Given the description of an element on the screen output the (x, y) to click on. 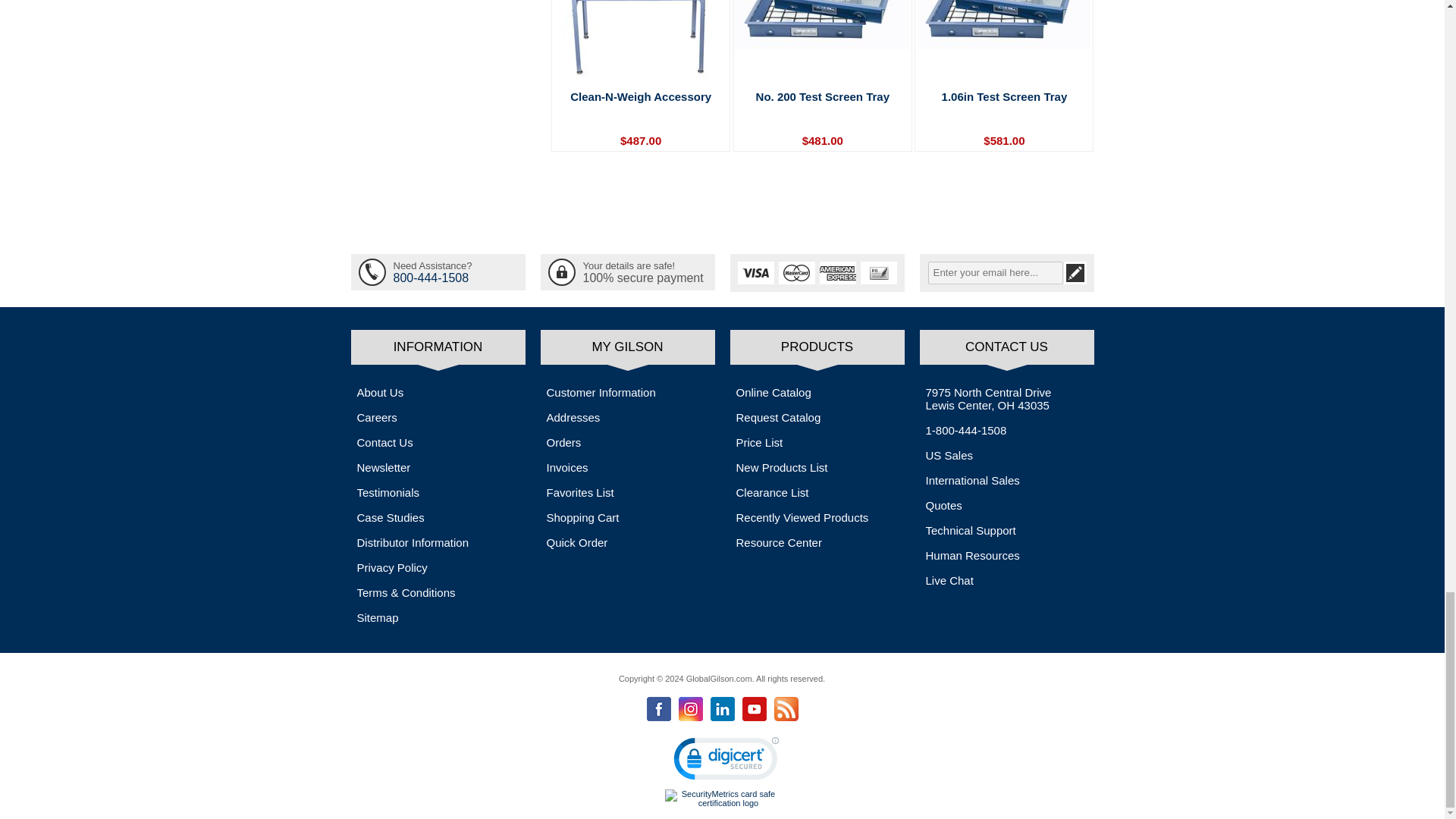
Send (1074, 272)
